Given the description of an element on the screen output the (x, y) to click on. 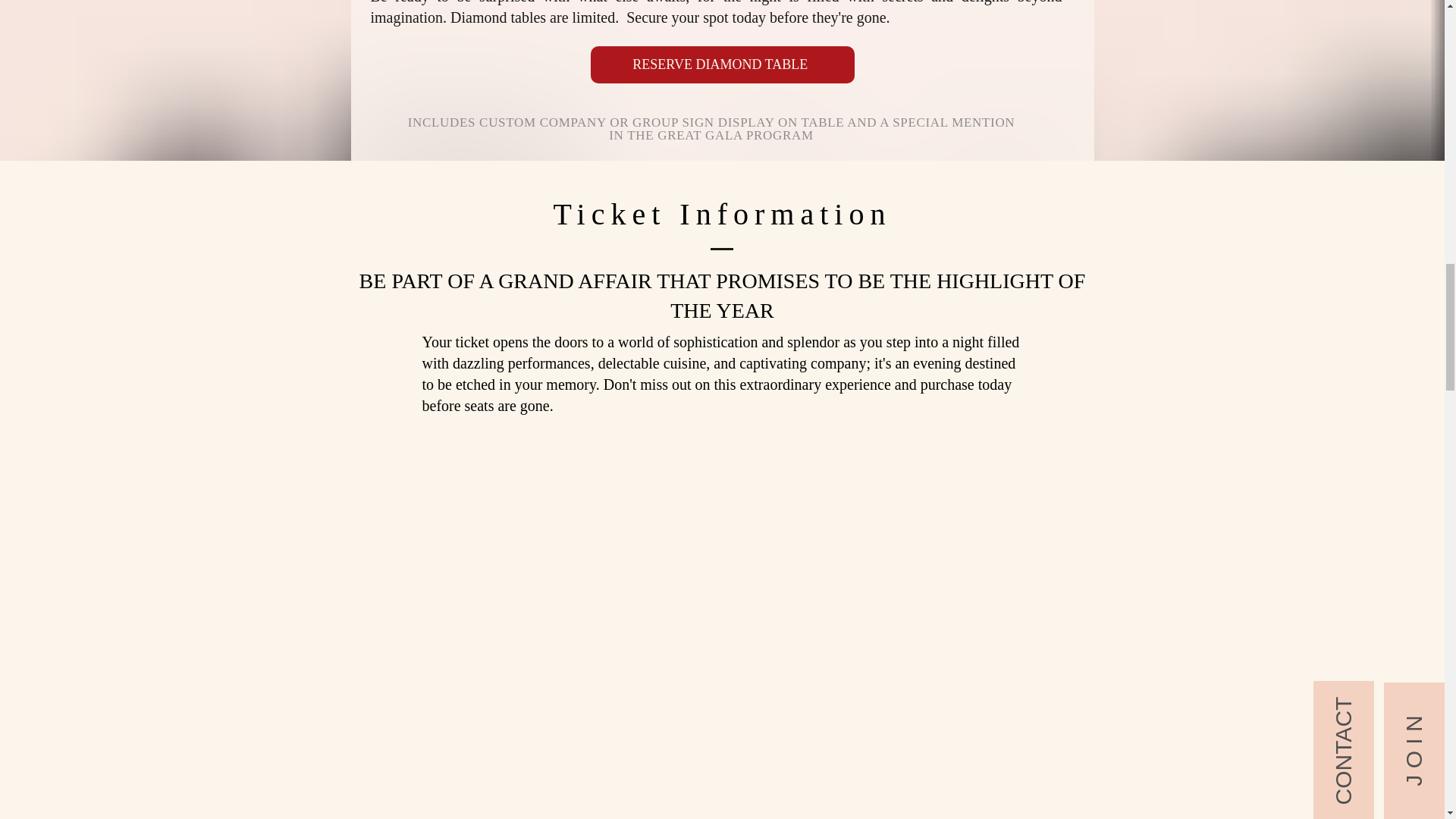
RESERVE DIAMOND TABLE (721, 64)
